Given the description of an element on the screen output the (x, y) to click on. 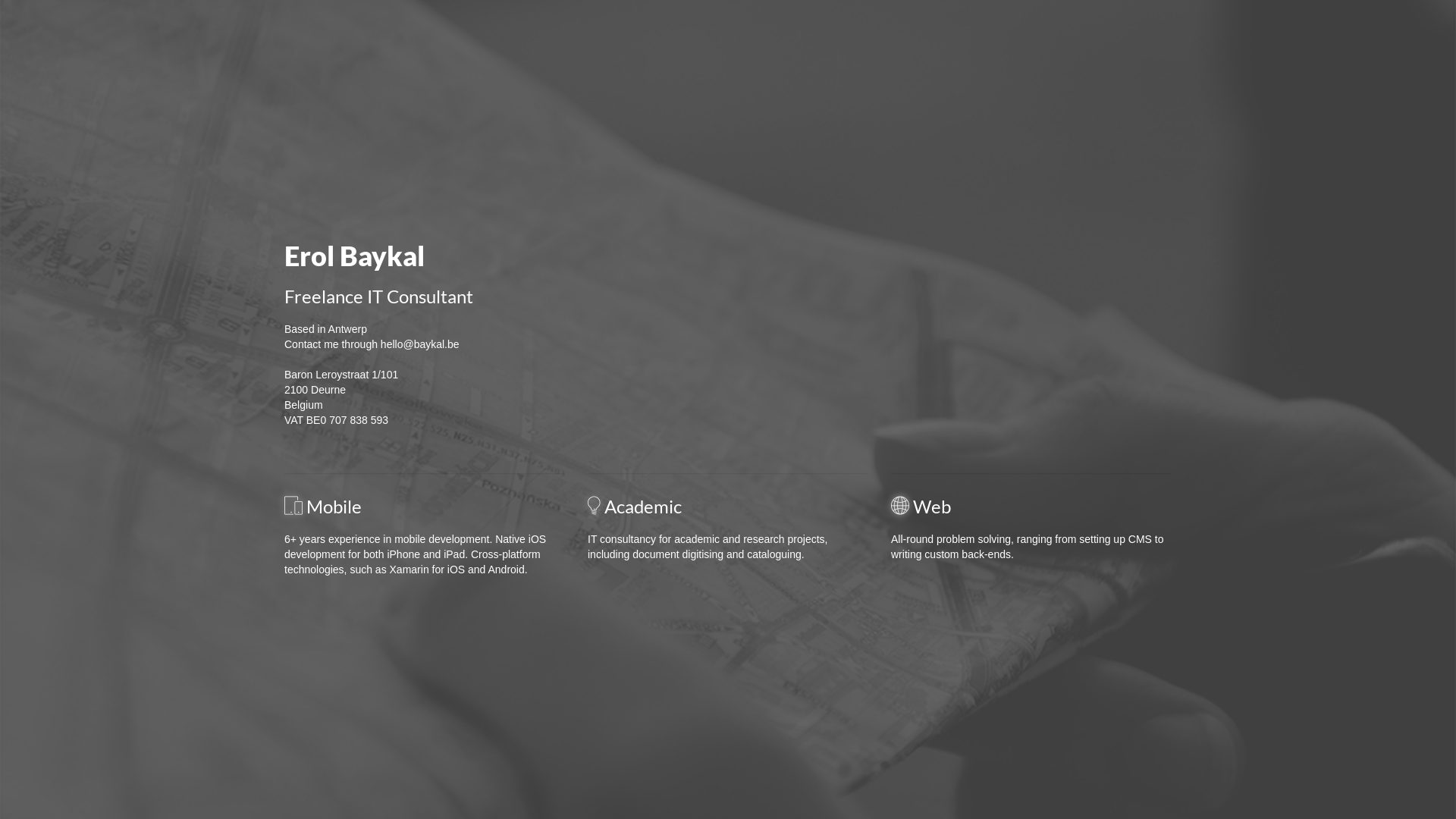
hello@baykal.be Element type: text (419, 344)
